Given the description of an element on the screen output the (x, y) to click on. 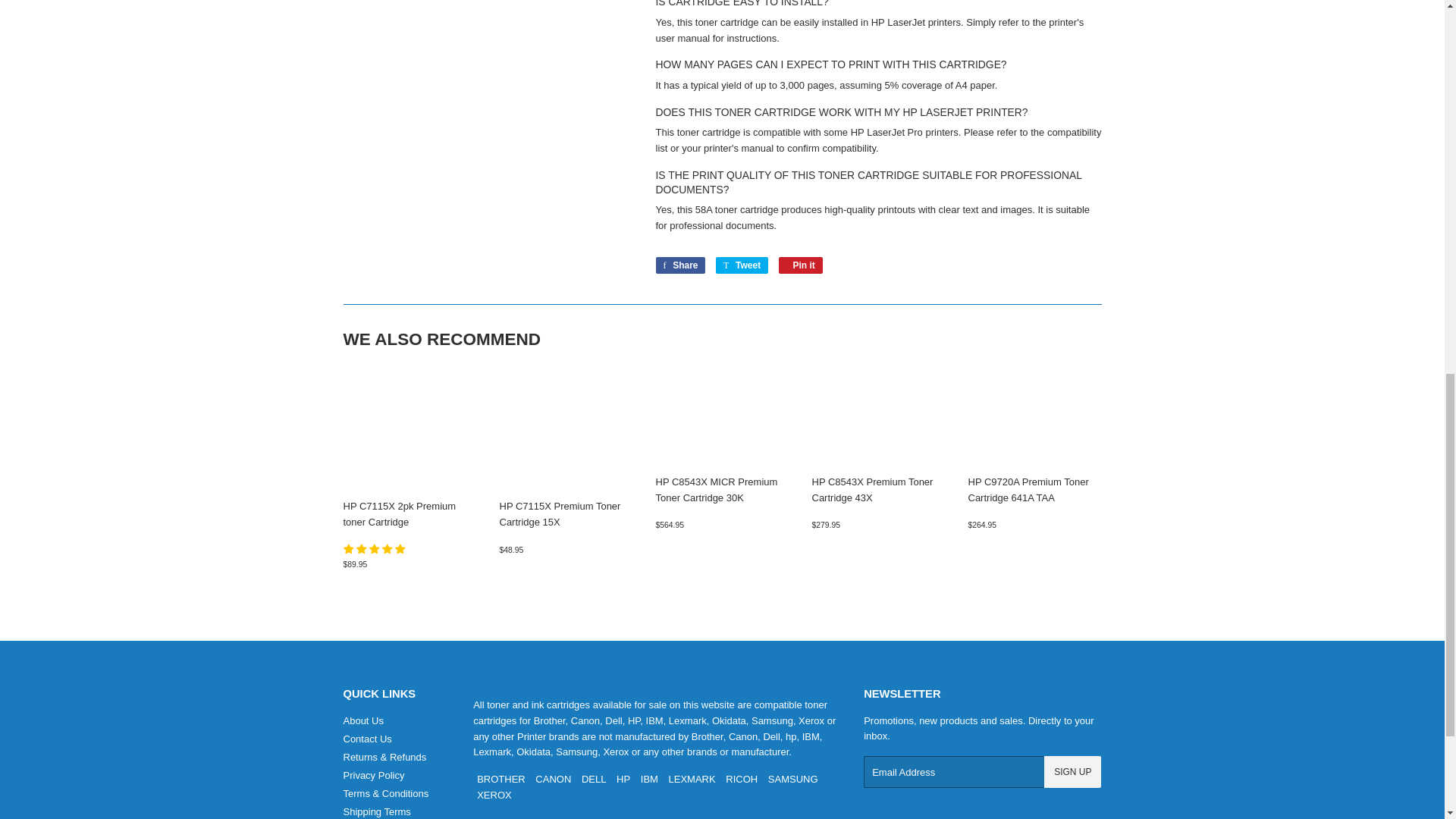
Share on Facebook (679, 265)
Tweet on Twitter (742, 265)
Pin on Pinterest (800, 265)
